Given the description of an element on the screen output the (x, y) to click on. 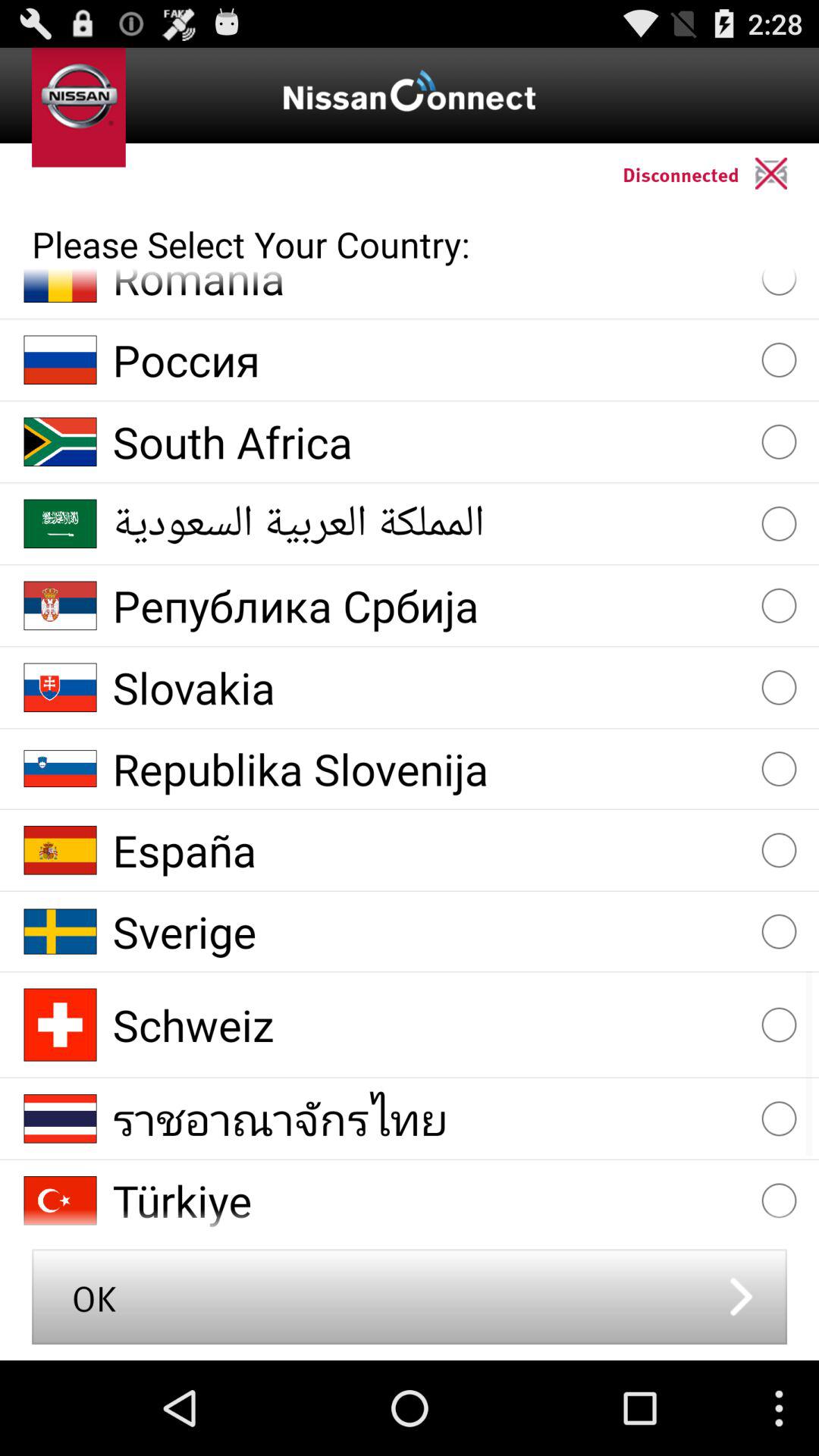
swipe until the romania (429, 287)
